Given the description of an element on the screen output the (x, y) to click on. 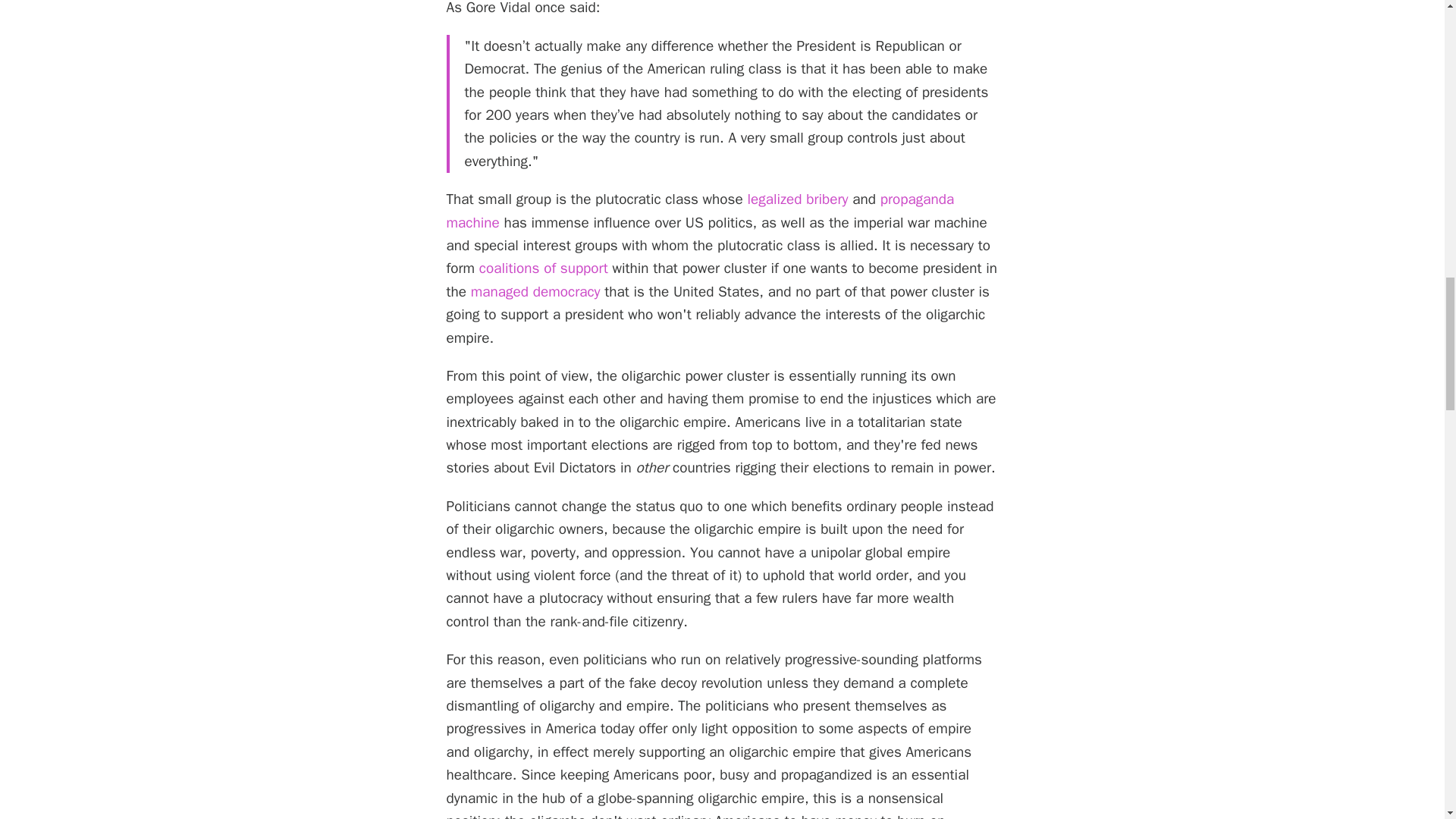
managed democracy (534, 291)
coalitions of support (543, 268)
propaganda machine (699, 210)
legalized bribery (796, 199)
